Given the description of an element on the screen output the (x, y) to click on. 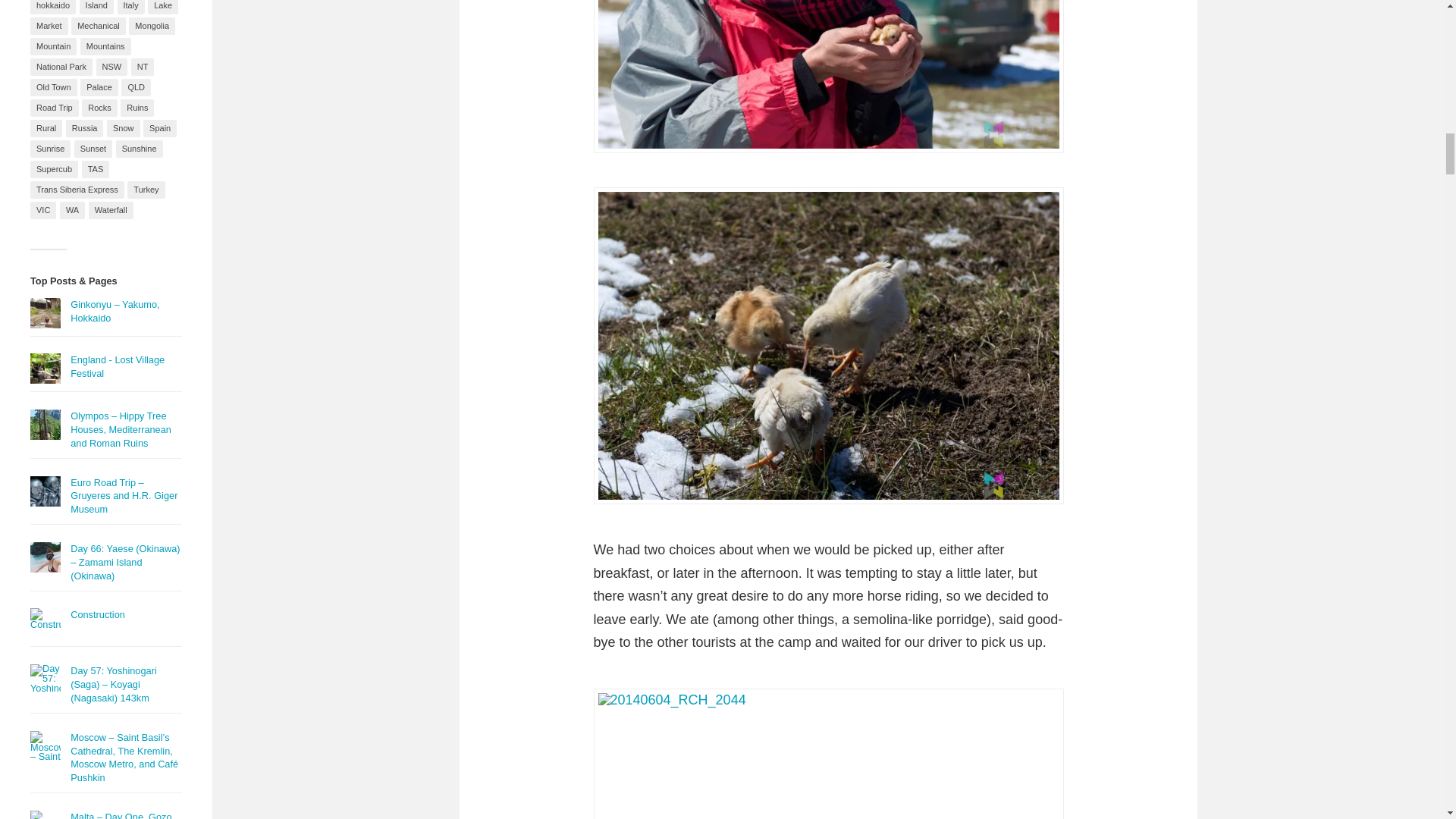
England - Lost Village Festival (116, 366)
Construction (97, 614)
